Given the description of an element on the screen output the (x, y) to click on. 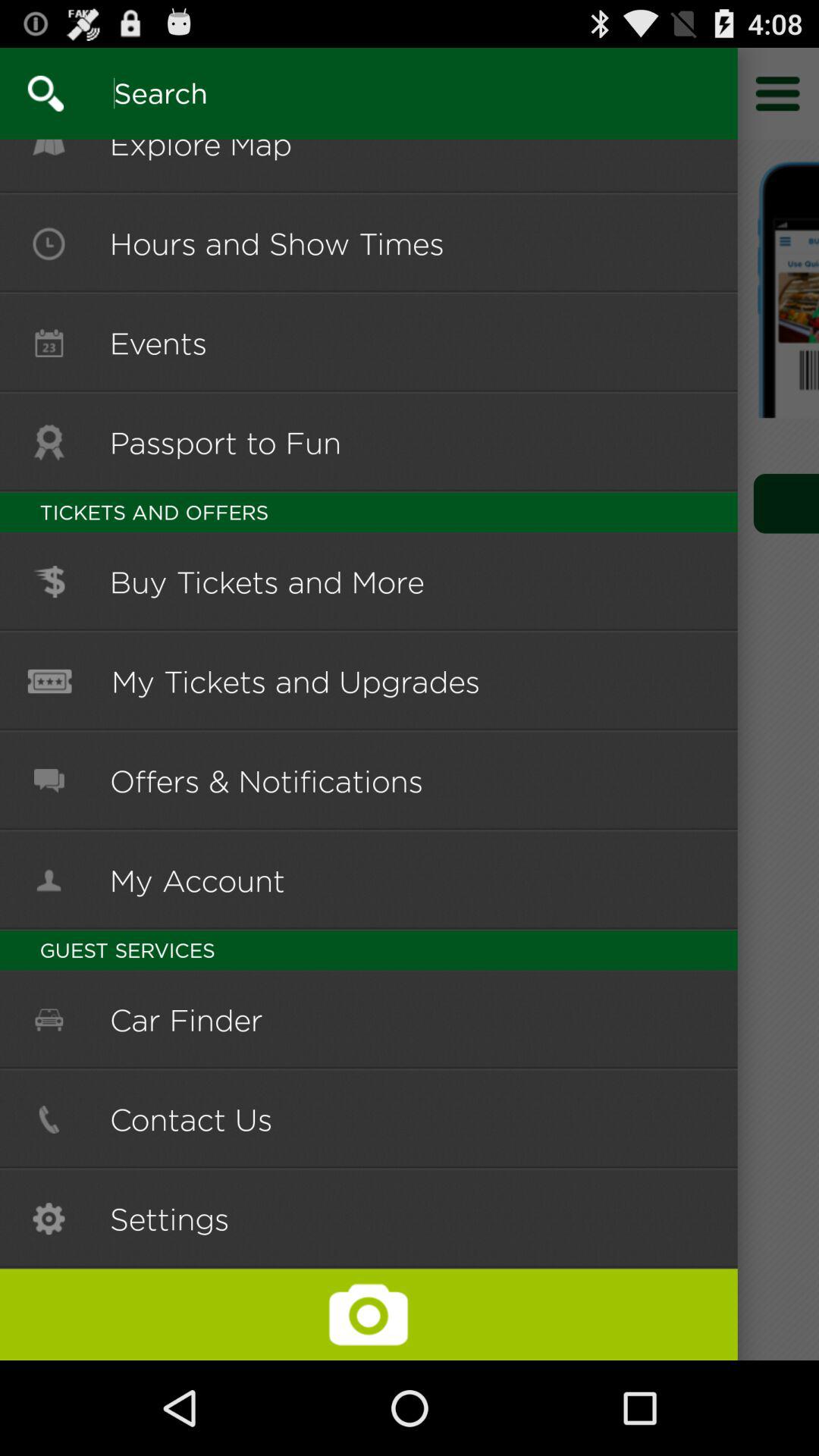
explore to menu (778, 93)
